Given the description of an element on the screen output the (x, y) to click on. 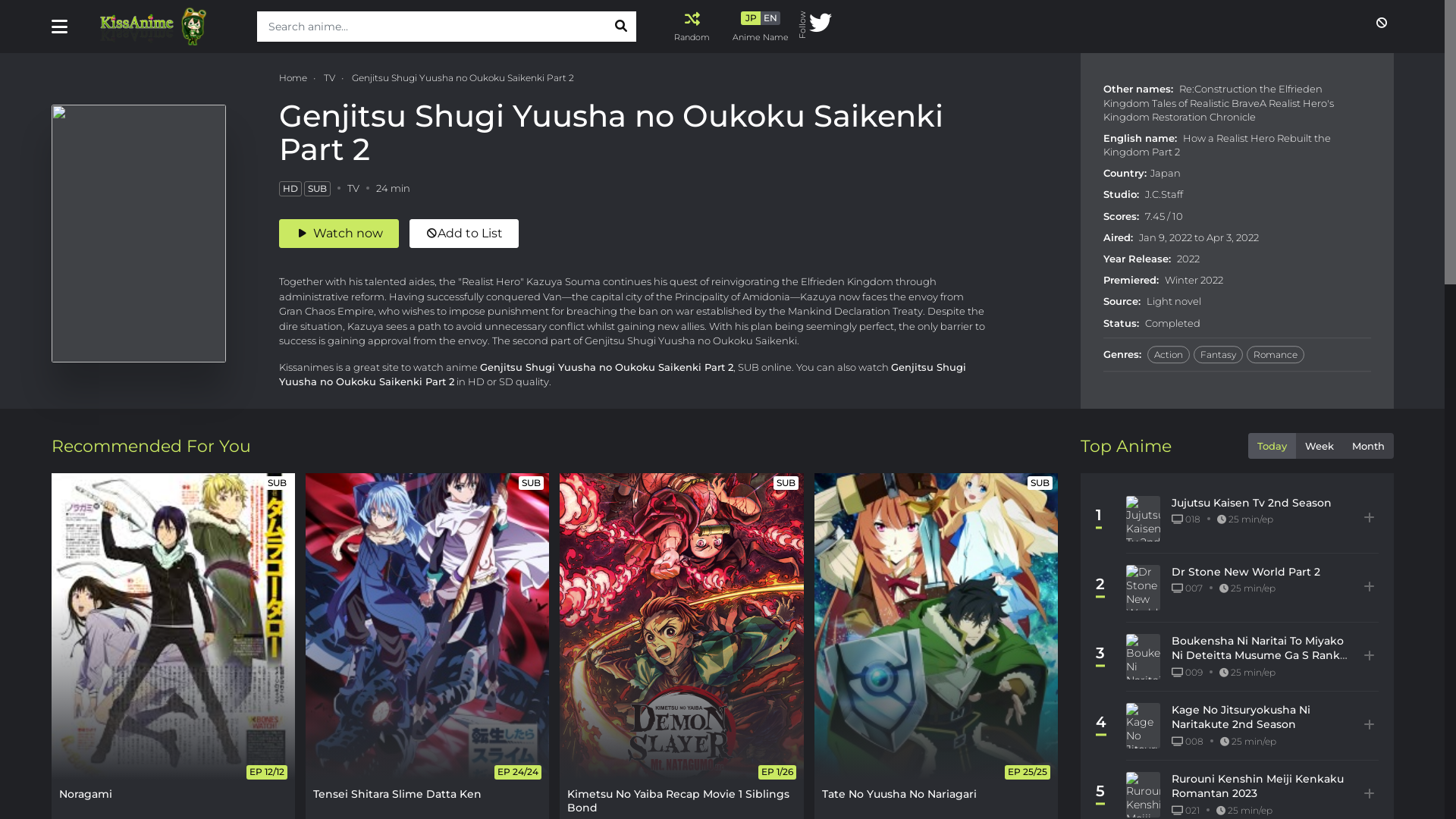
Rurouni Kenshin Meiji Kenkaku Romantan 2023 Element type: text (1257, 785)
Noragami Element type: text (85, 793)
Tensei Shitara Slime Datta Ken Element type: hover (427, 626)
Add to List Element type: text (463, 233)
Kage No Jitsuryokusha Ni Naritakute 2nd Season Element type: text (1240, 716)
Today Element type: text (1271, 445)
Follow Element type: text (815, 27)
J.C.Staff Element type: text (1164, 194)
Fantasy Element type: text (1217, 354)
Home Element type: text (293, 77)
Tate No Yuusha No Nariagari Element type: text (899, 793)
Noragami Element type: hover (172, 626)
Romance Element type: text (1275, 354)
TV Element type: text (328, 77)
Winter 2022 Element type: text (1193, 279)
Watch now Element type: text (338, 233)
Japan Element type: text (1165, 172)
Dr Stone New World Part 2 Element type: text (1245, 571)
Month Element type: text (1367, 445)
Kissanimes Element type: hover (164, 26)
Action Element type: text (1168, 354)
Genjitsu Shugi Yuusha no Oukoku Saikenki Part 2 Element type: text (462, 77)
Tate No Yuusha No Nariagari Element type: hover (935, 626)
Week Element type: text (1318, 445)
Jujutsu Kaisen Tv 2nd Season Element type: text (1251, 502)
Completed Element type: text (1172, 322)
Kimetsu No Yaiba Recap Movie 1 Siblings Bond Element type: hover (681, 626)
Tensei Shitara Slime Datta Ken Element type: text (397, 793)
2022 Element type: text (1187, 258)
Random Element type: text (691, 26)
Kimetsu No Yaiba Recap Movie 1 Siblings Bond Element type: text (678, 800)
